Given the description of an element on the screen output the (x, y) to click on. 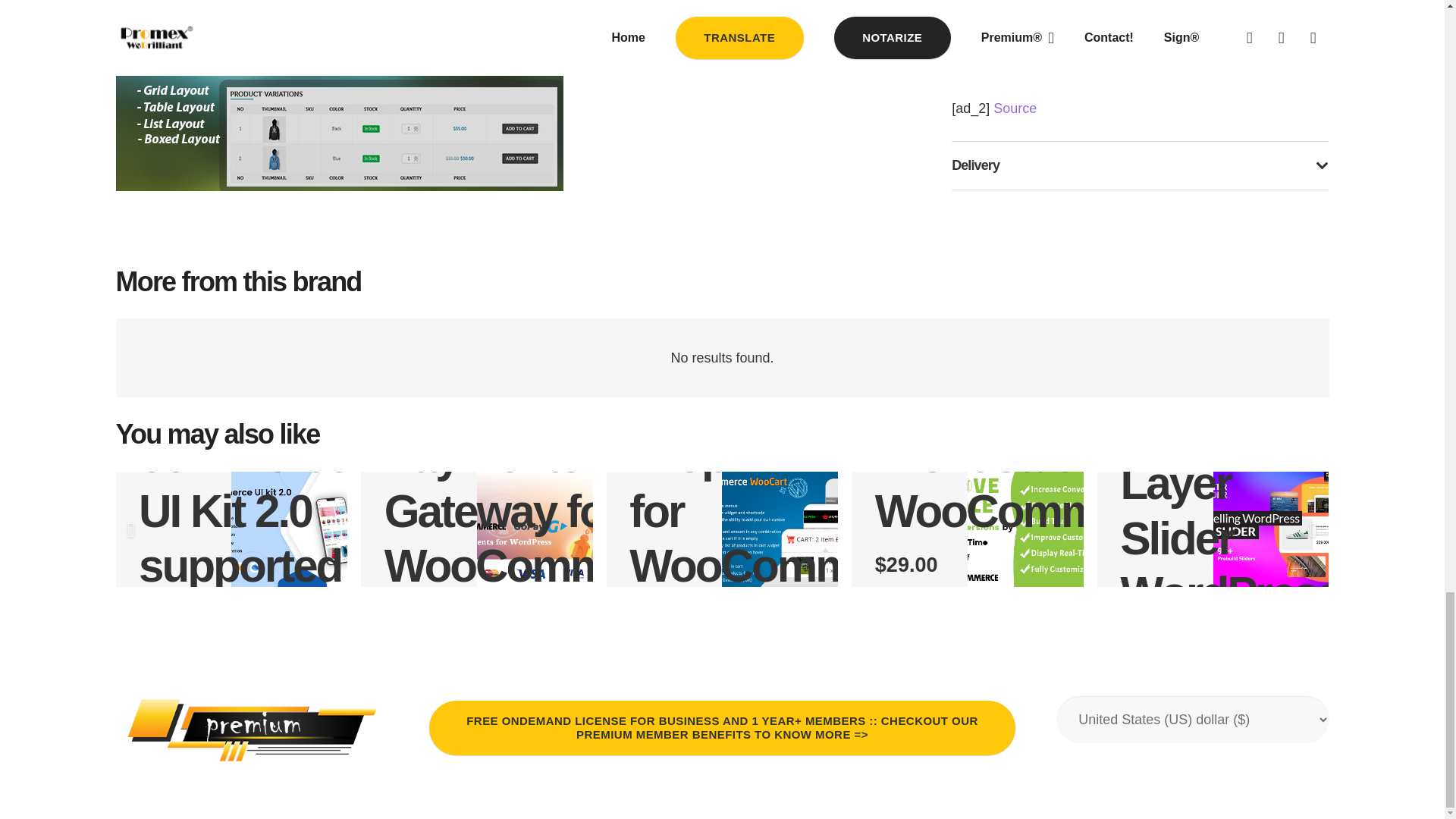
Flutter E-commerce UI Kit 2.0 supported (243, 483)
GoPay Payments Gateway for WooCommerce (539, 483)
Premium (251, 730)
Source (1014, 108)
Delivery (1139, 165)
ProveSale for WooCommerce (1030, 482)
